Given the description of an element on the screen output the (x, y) to click on. 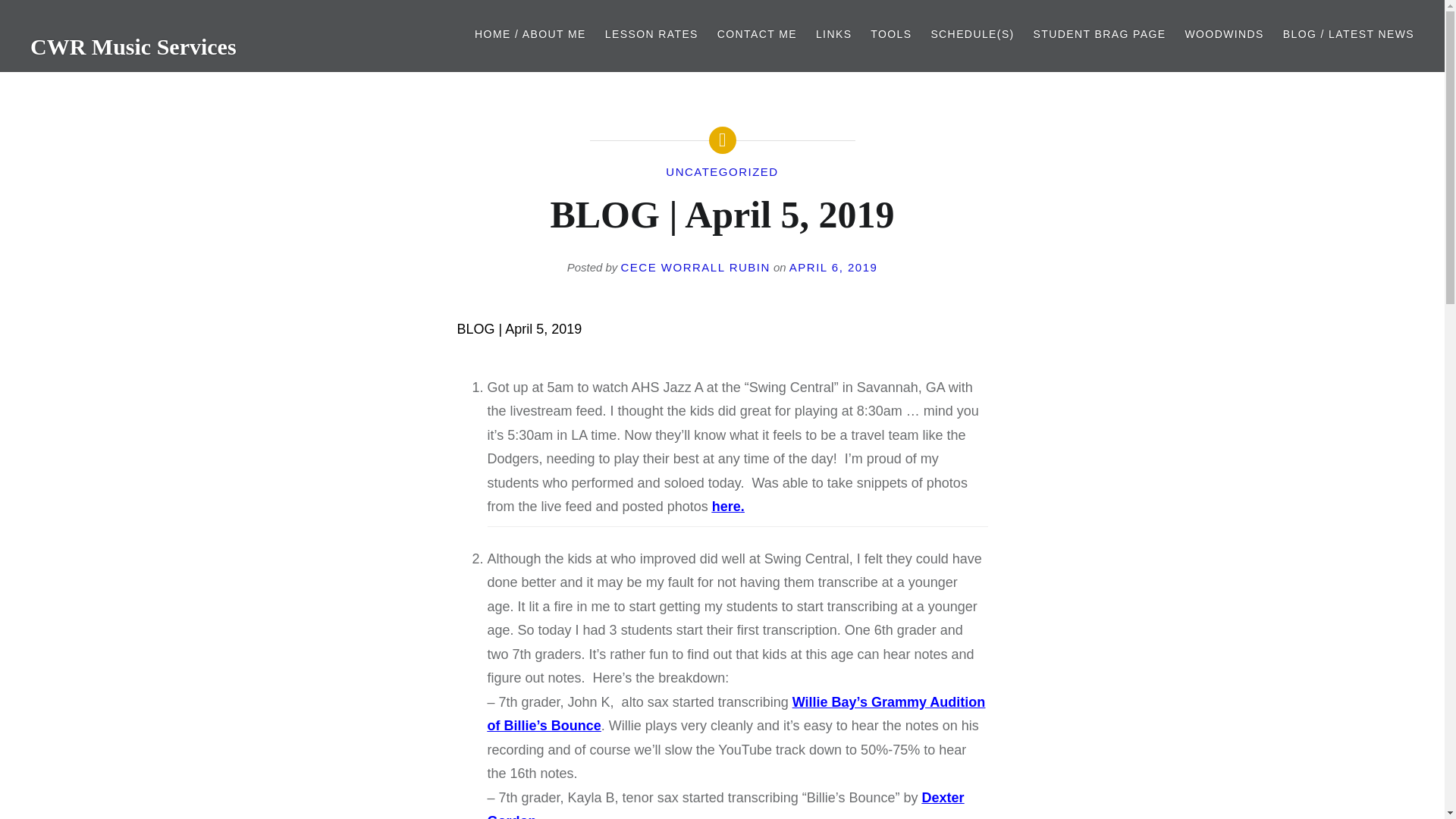
CECE WORRALL RUBIN (695, 267)
LESSON RATES (651, 34)
LINKS (833, 34)
UNCATEGORIZED (721, 171)
APRIL 6, 2019 (833, 267)
CONTACT ME (756, 34)
WOODWINDS (1224, 34)
CWR Music Services (132, 46)
Dexter Gordon. (724, 804)
STUDENT BRAG PAGE (1099, 34)
